Given the description of an element on the screen output the (x, y) to click on. 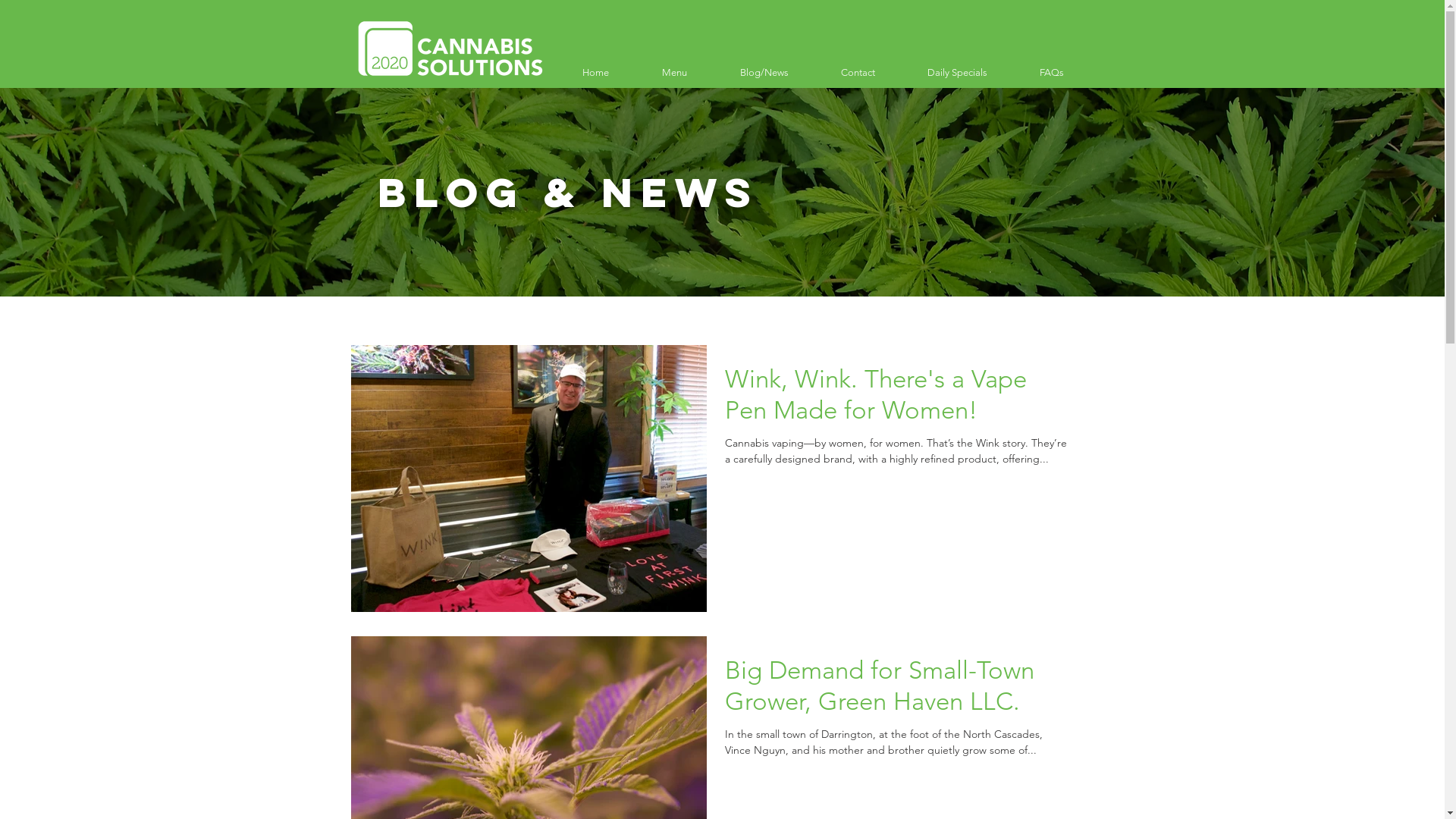
FAQs Element type: text (1051, 72)
2020-Solutions-x225.png Element type: hover (449, 48)
Menu Element type: text (674, 72)
Site Search Element type: hover (441, 331)
Big Demand for Small-Town Grower, Green Haven LLC. Element type: text (896, 690)
Wink, Wink. There's a Vape Pen Made for Women! Element type: text (896, 399)
Daily Specials Element type: text (956, 72)
Blog/News Element type: text (763, 72)
Contact Element type: text (857, 72)
Home Element type: text (594, 72)
